Given the description of an element on the screen output the (x, y) to click on. 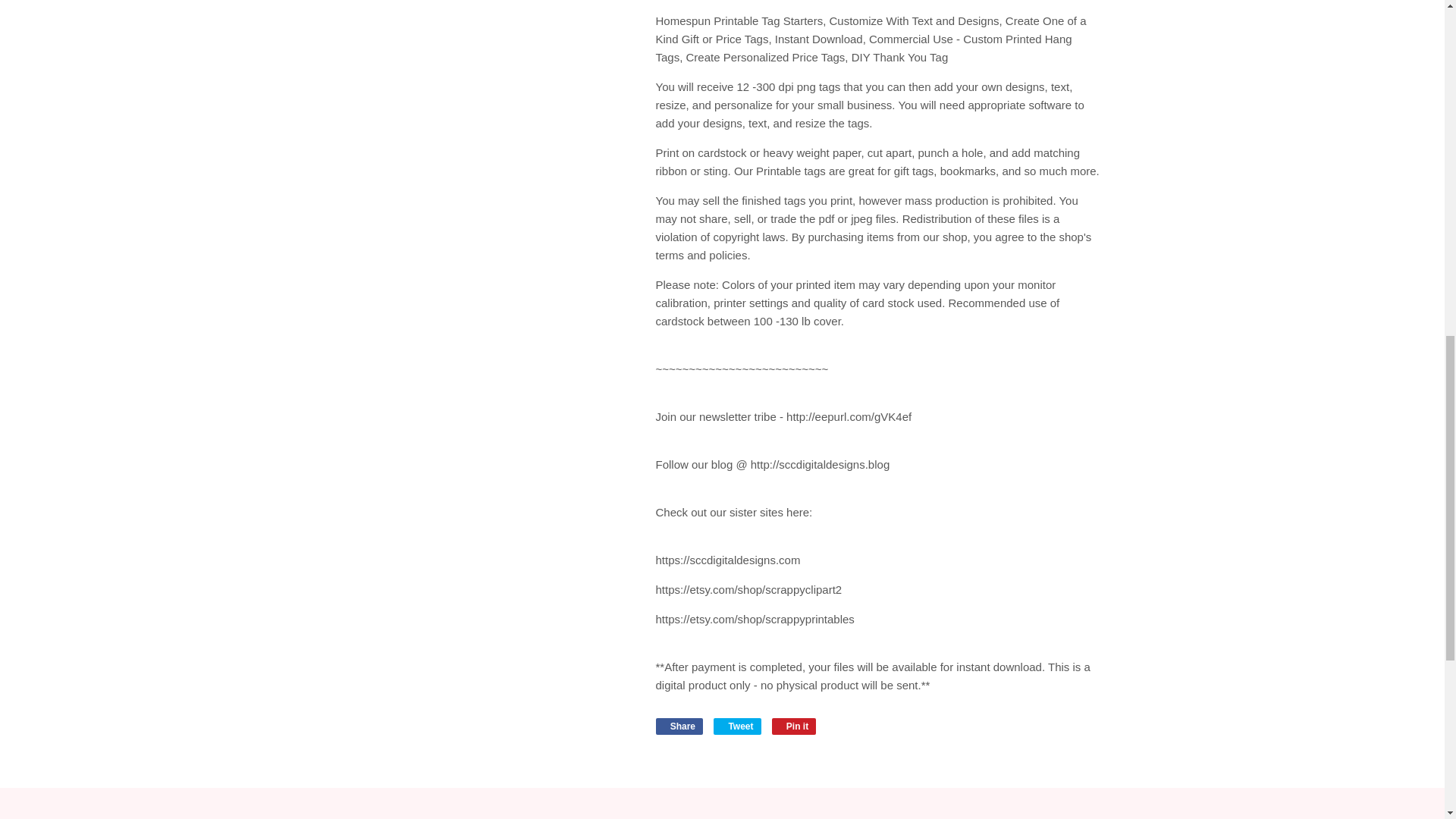
Tweet on Twitter (736, 726)
Pin on Pinterest (793, 726)
Share on Facebook (679, 726)
